Given the description of an element on the screen output the (x, y) to click on. 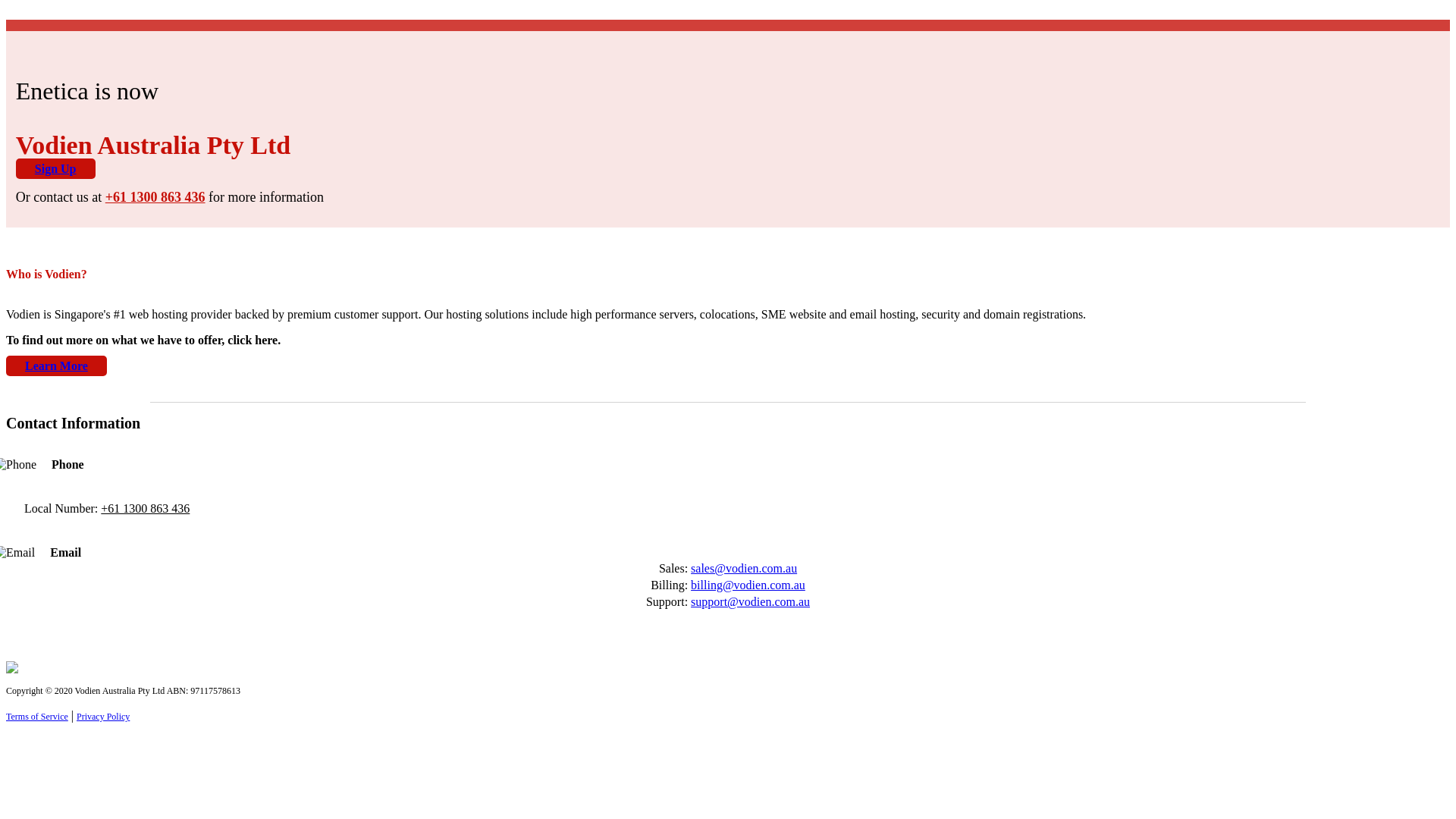
Sign Up Element type: text (55, 168)
Privacy Policy Element type: text (102, 716)
sales@vodien.com.au Element type: text (743, 567)
support@vodien.com.au Element type: text (749, 601)
Learn More Element type: text (56, 365)
+61 1300 863 436 Element type: text (144, 508)
billing@vodien.com.au Element type: text (747, 584)
Terms of Service Element type: text (37, 716)
+61 1300 863 436 Element type: text (155, 196)
